Given the description of an element on the screen output the (x, y) to click on. 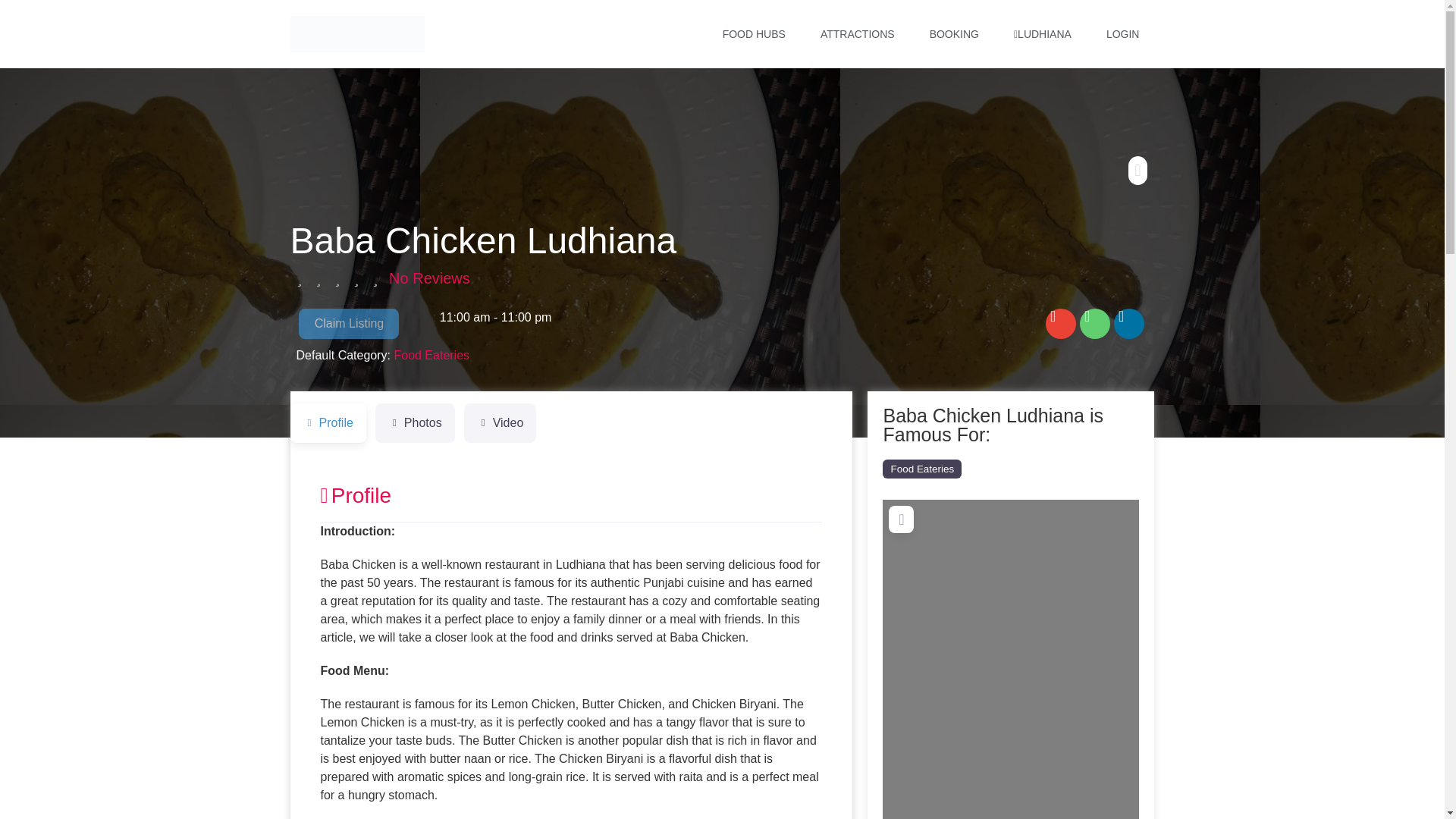
LOGIN (1122, 33)
Video (500, 423)
Video (500, 423)
LUDHIANA (1042, 33)
Photos (414, 423)
No rating yet! (336, 278)
FOOD HUBS (753, 33)
Add to Favorites (1137, 170)
Profile (327, 423)
Food Eateries (430, 354)
ATTRACTIONS (857, 33)
Expand opening hours (495, 317)
Profile (355, 495)
Photos (414, 423)
Claim Listing (348, 323)
